Given the description of an element on the screen output the (x, y) to click on. 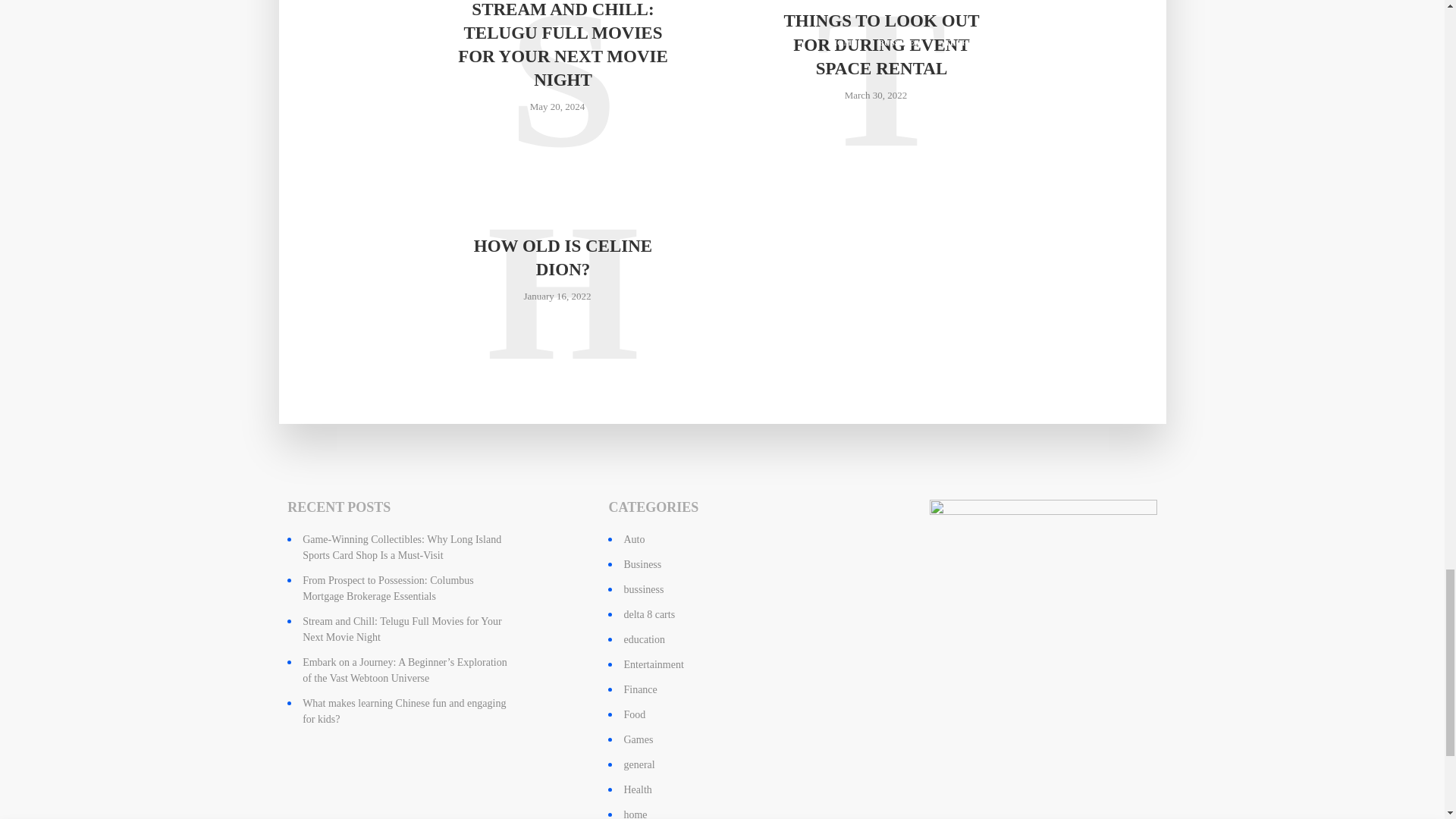
Auto (634, 539)
delta 8 carts (649, 614)
Finance (639, 689)
education (643, 639)
home (634, 814)
bussiness (643, 589)
Entertainment (652, 664)
general (638, 764)
